Given the description of an element on the screen output the (x, y) to click on. 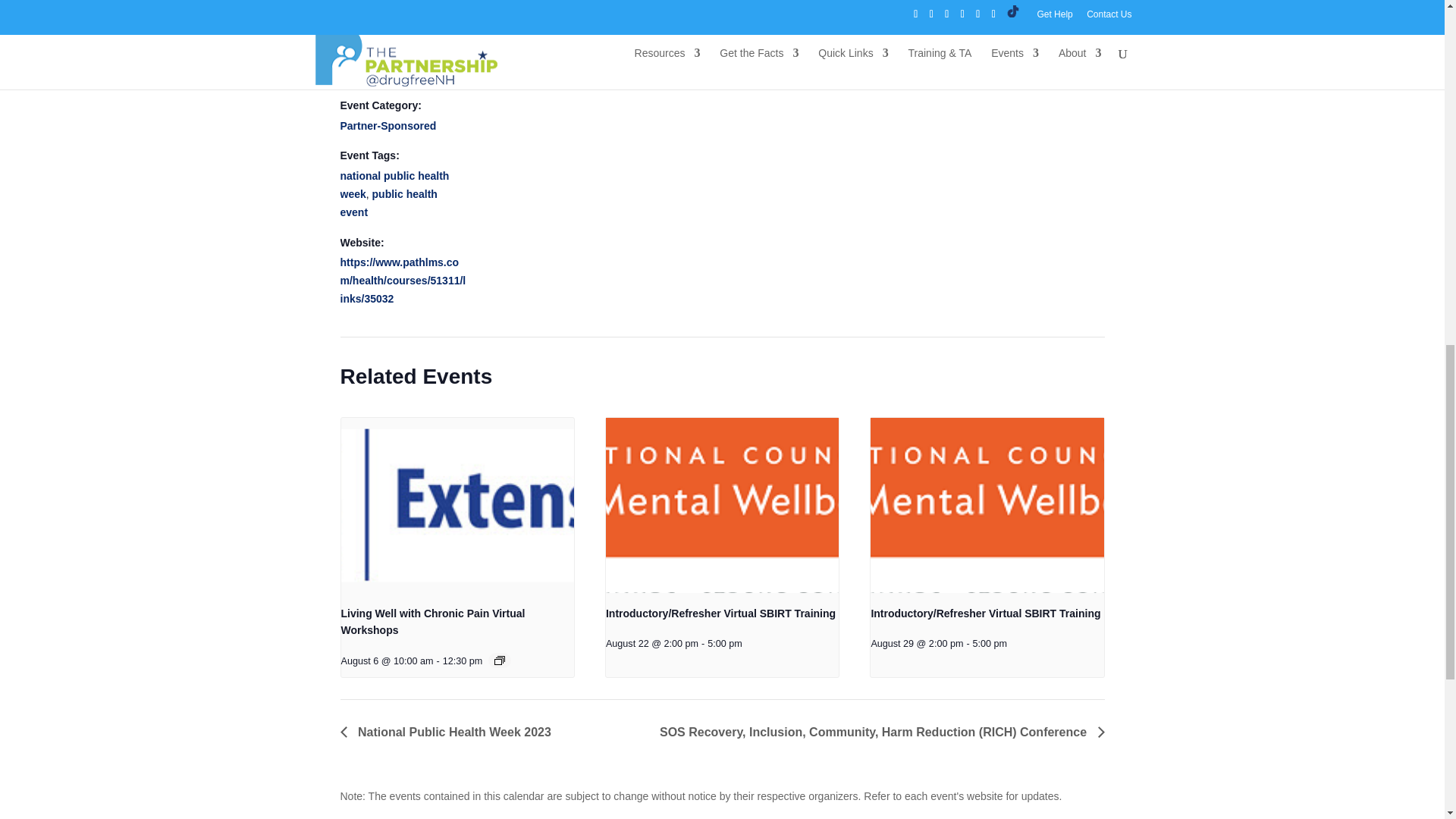
2023-04-03 (403, 25)
Event Series (500, 660)
